Given the description of an element on the screen output the (x, y) to click on. 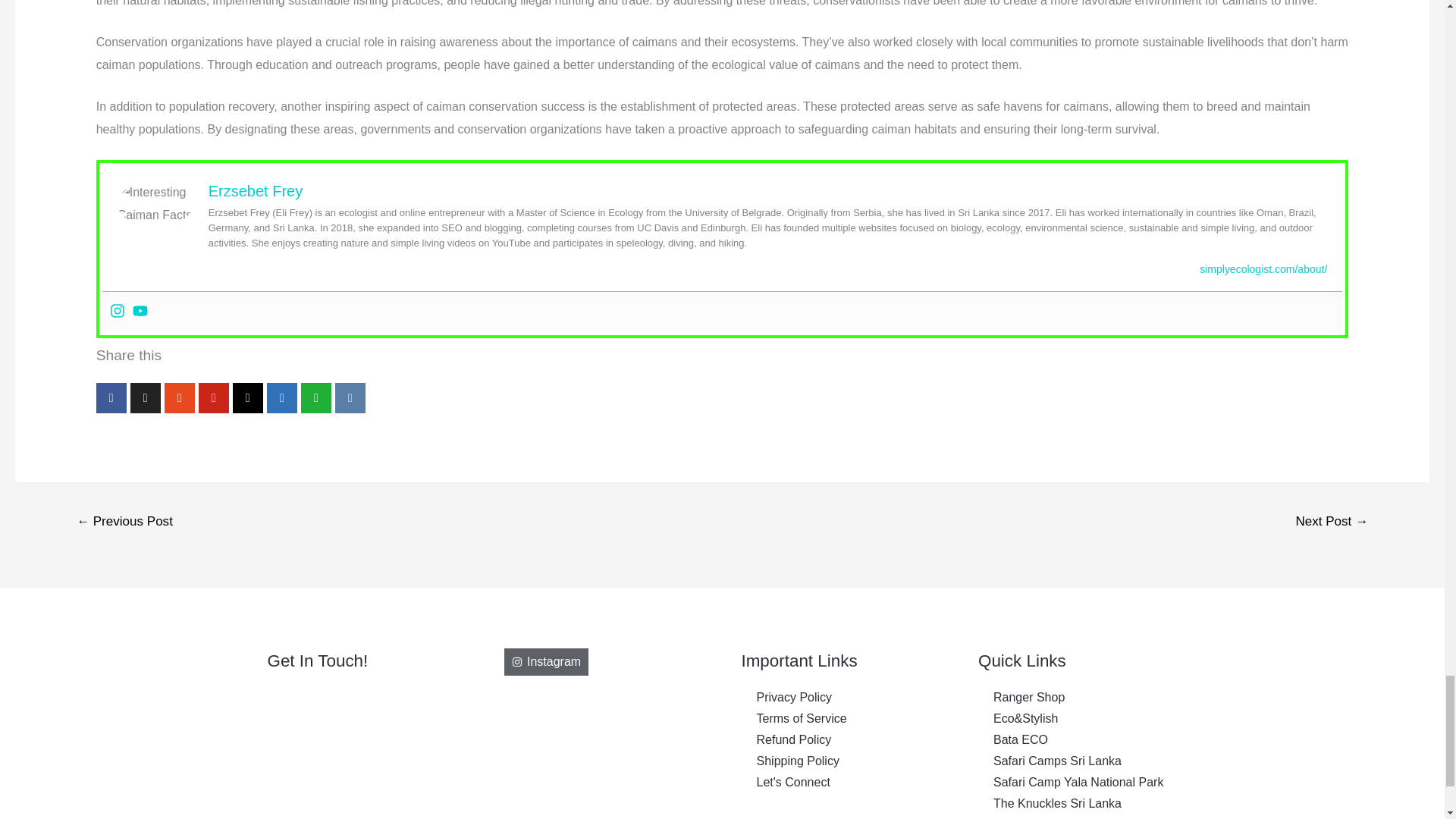
Interesting Caiman Facts 1 (155, 203)
